Given the description of an element on the screen output the (x, y) to click on. 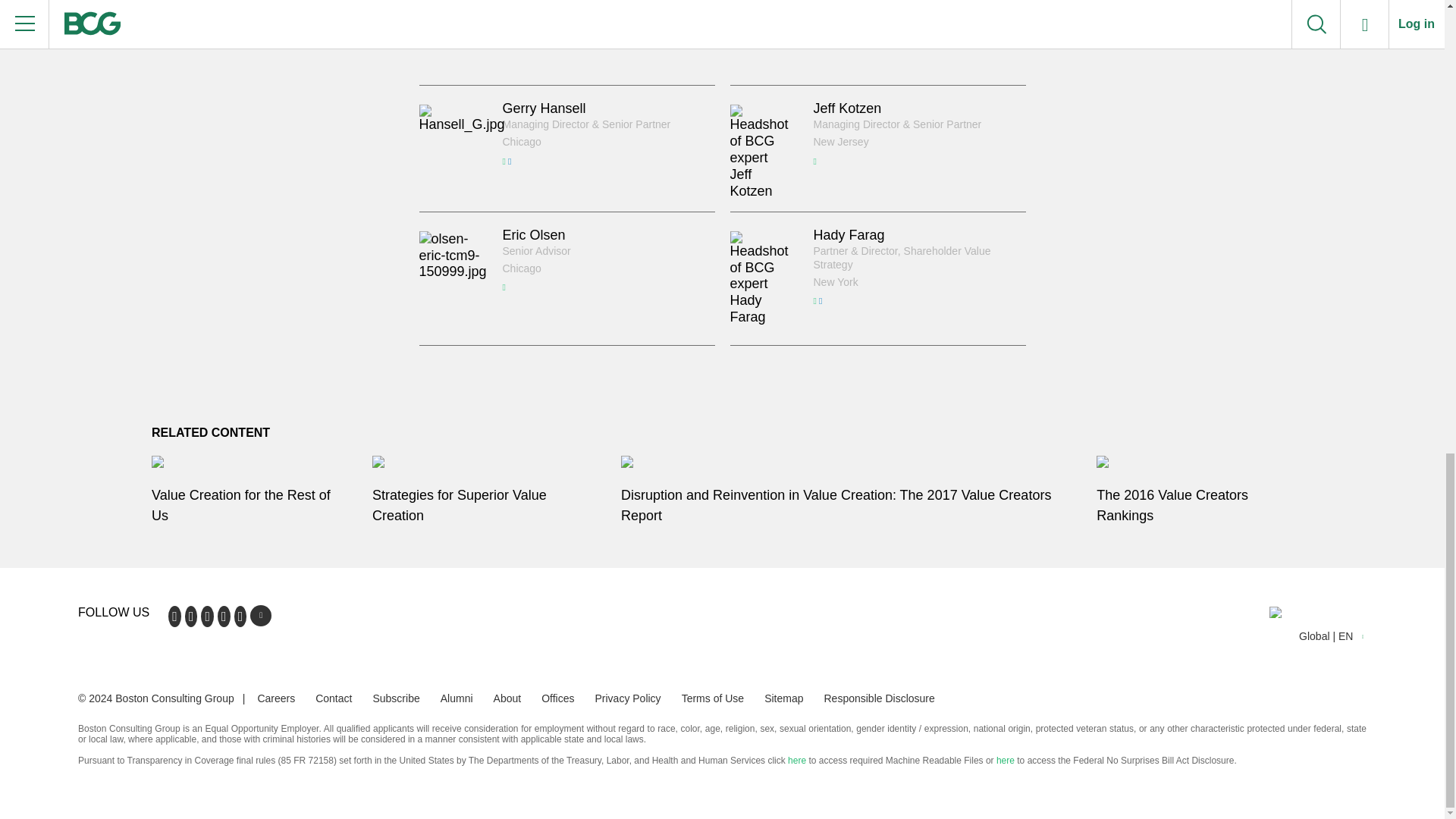
Gerry Hansell (543, 108)
Hady Farag (847, 234)
Jeff Kotzen (846, 108)
